Given the description of an element on the screen output the (x, y) to click on. 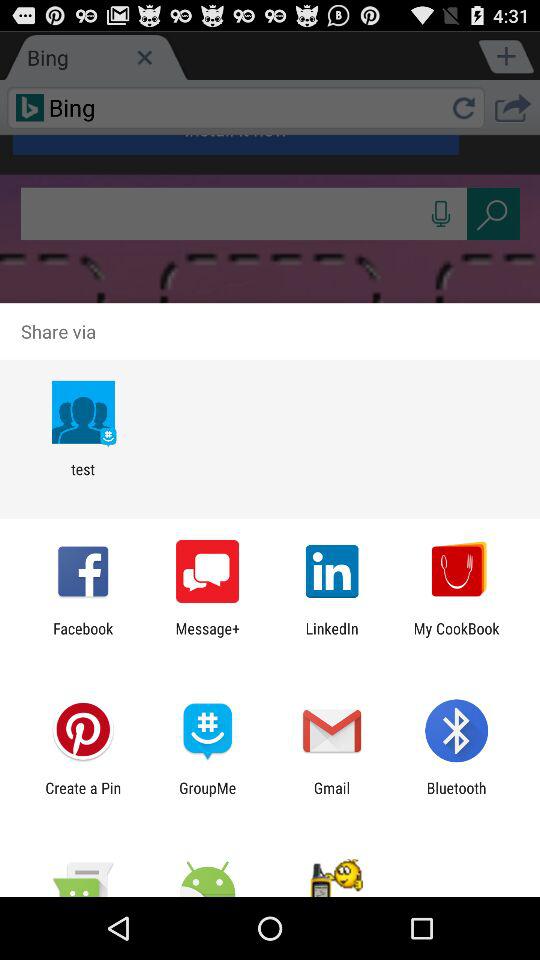
tap item to the right of linkedin icon (456, 637)
